Given the description of an element on the screen output the (x, y) to click on. 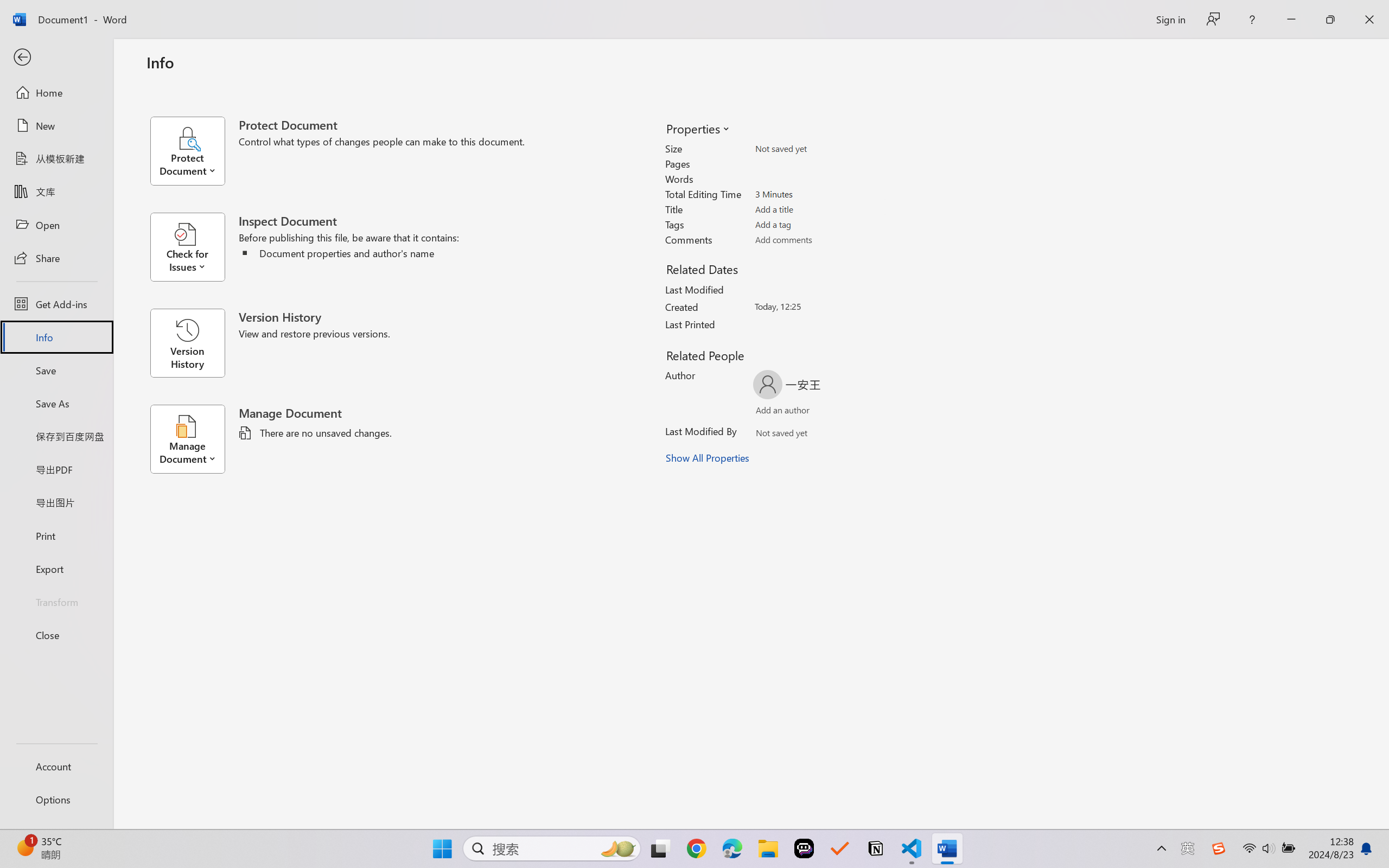
Save As (56, 403)
Account (56, 765)
Export (56, 568)
Title (818, 209)
Show All Properties (707, 457)
Total Editing Time (818, 193)
Words (818, 178)
